Given the description of an element on the screen output the (x, y) to click on. 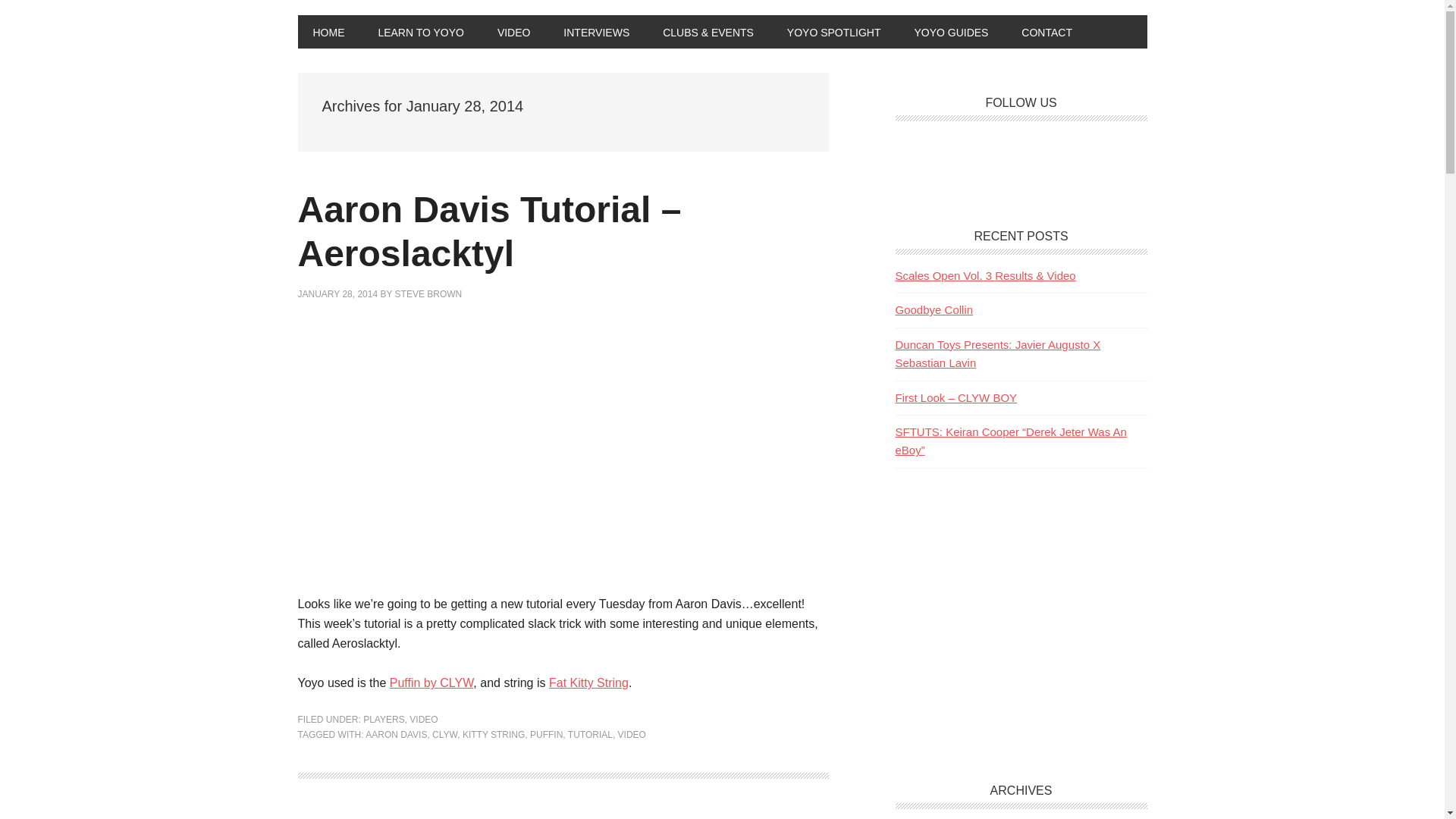
YOYO SPOTLIGHT (833, 31)
Fat Kitty String (588, 682)
STEVE BROWN (428, 294)
Advertisement (1008, 587)
PLAYERS (383, 719)
HOME (328, 31)
Puffin by CLYW (432, 682)
LEARN TO YOYO (420, 31)
KITTY STRING (493, 734)
Fat Kitty String at YoYoExpert.com (588, 682)
TUTORIAL (589, 734)
PUFFIN (545, 734)
Puffin yoyo by CLYW (432, 682)
VIDEO (513, 31)
